Given the description of an element on the screen output the (x, y) to click on. 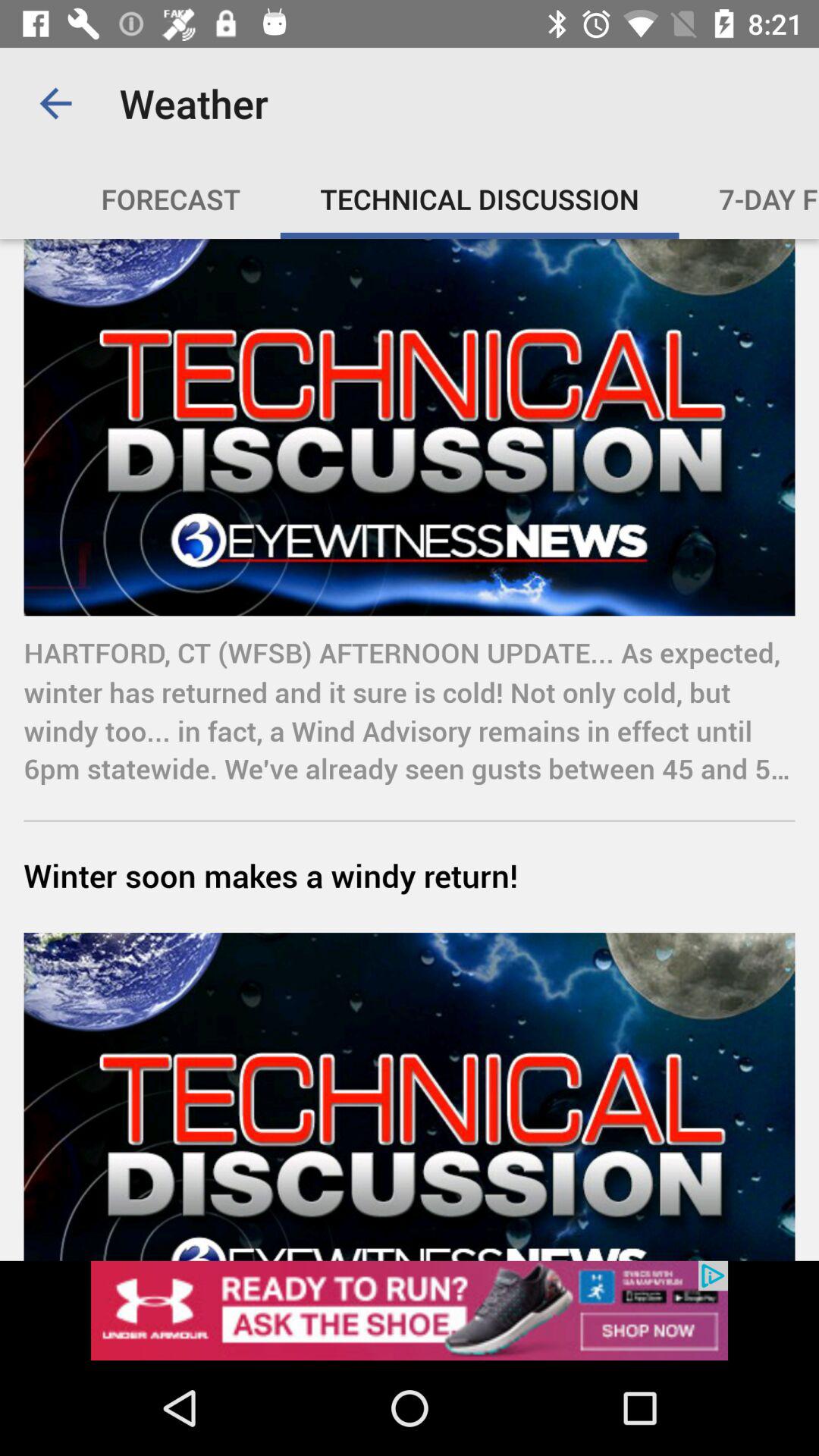
advertisement click (409, 1310)
